Given the description of an element on the screen output the (x, y) to click on. 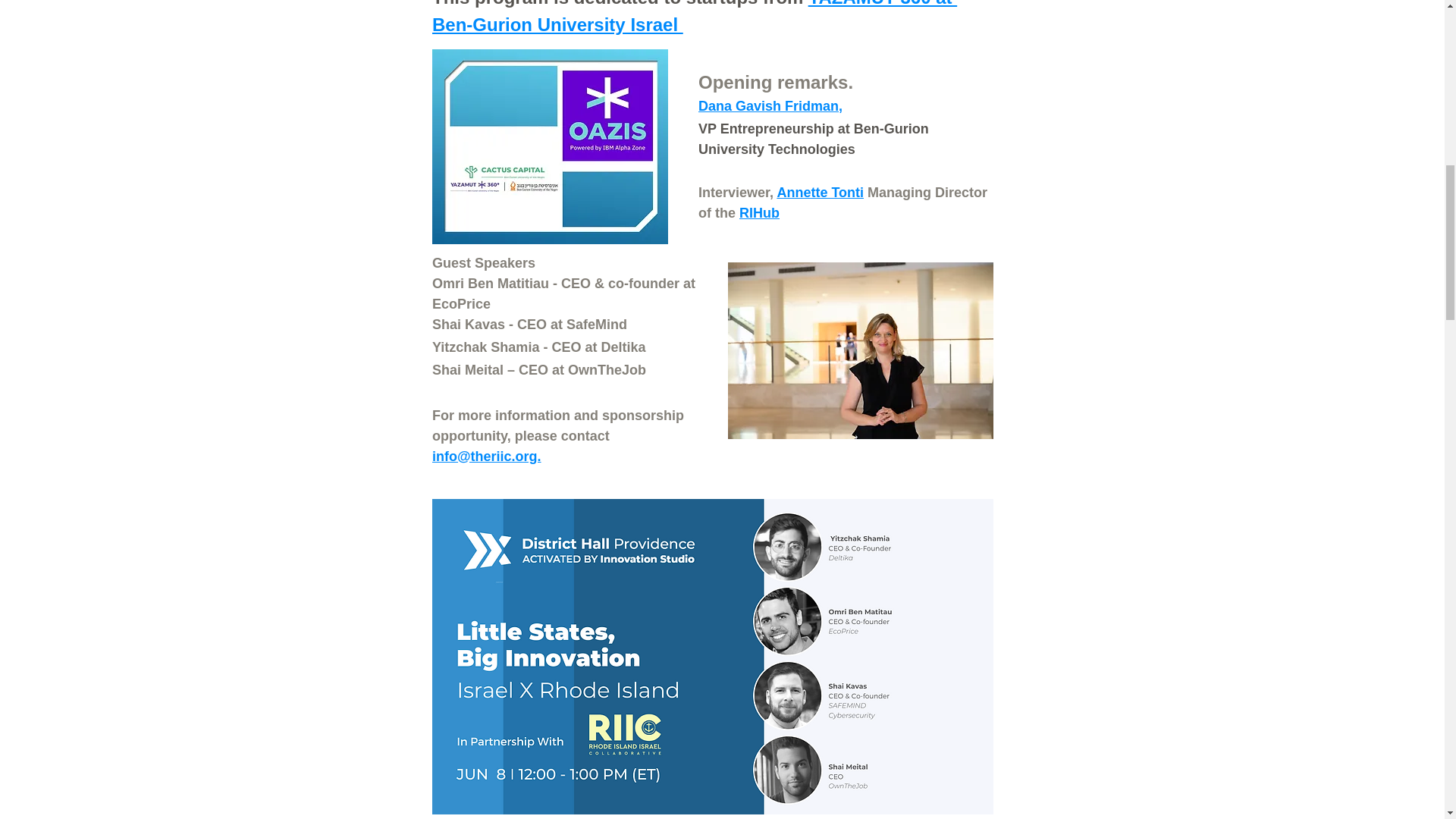
Ben-Gurion University I (533, 24)
Dana Gavish Fridman (767, 105)
YAZAMUT 360 at  (882, 3)
srael  (658, 24)
